Given the description of an element on the screen output the (x, y) to click on. 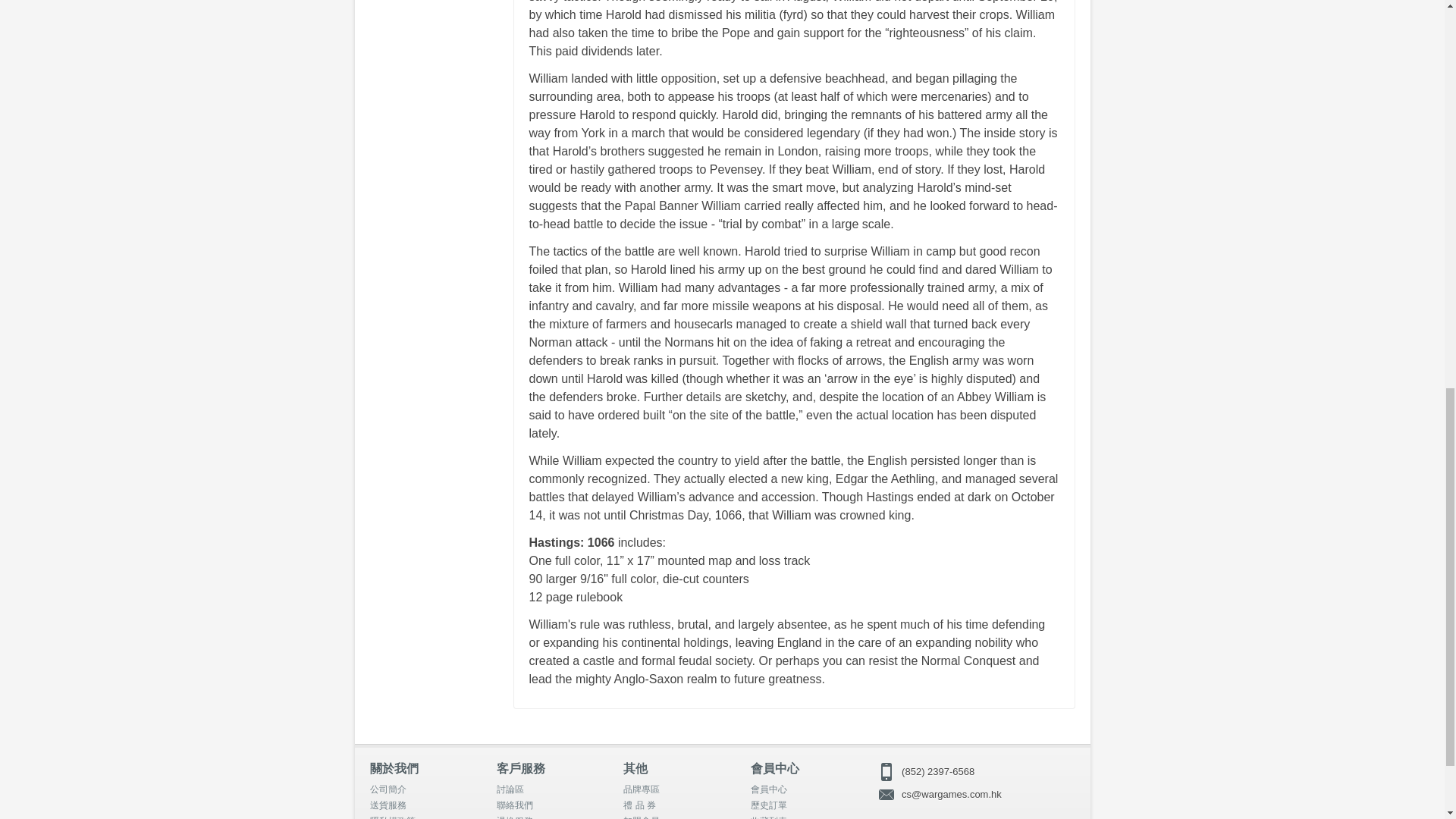
Email (975, 794)
Phone (975, 771)
